Given the description of an element on the screen output the (x, y) to click on. 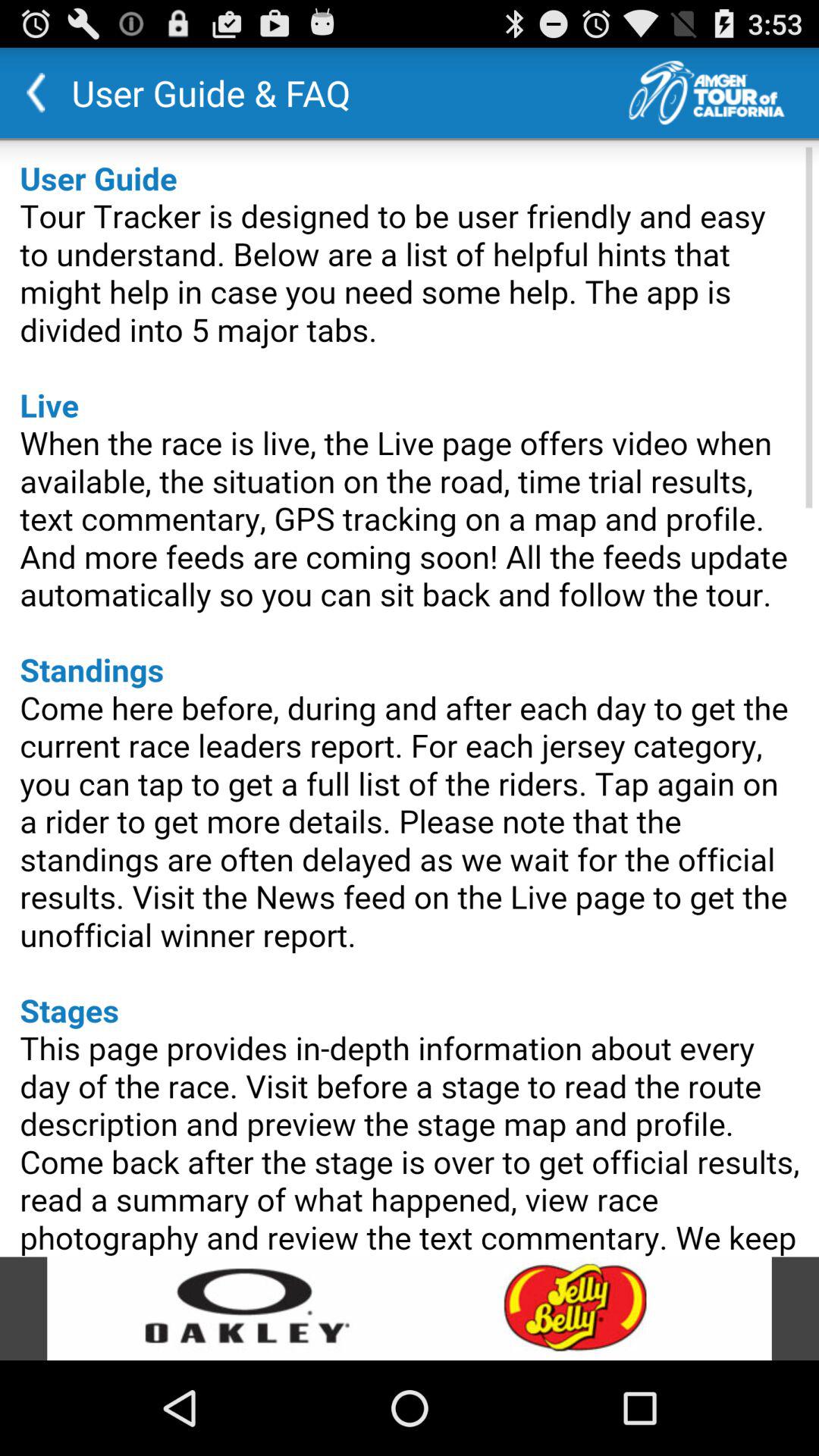
click to go to home page (724, 92)
